Given the description of an element on the screen output the (x, y) to click on. 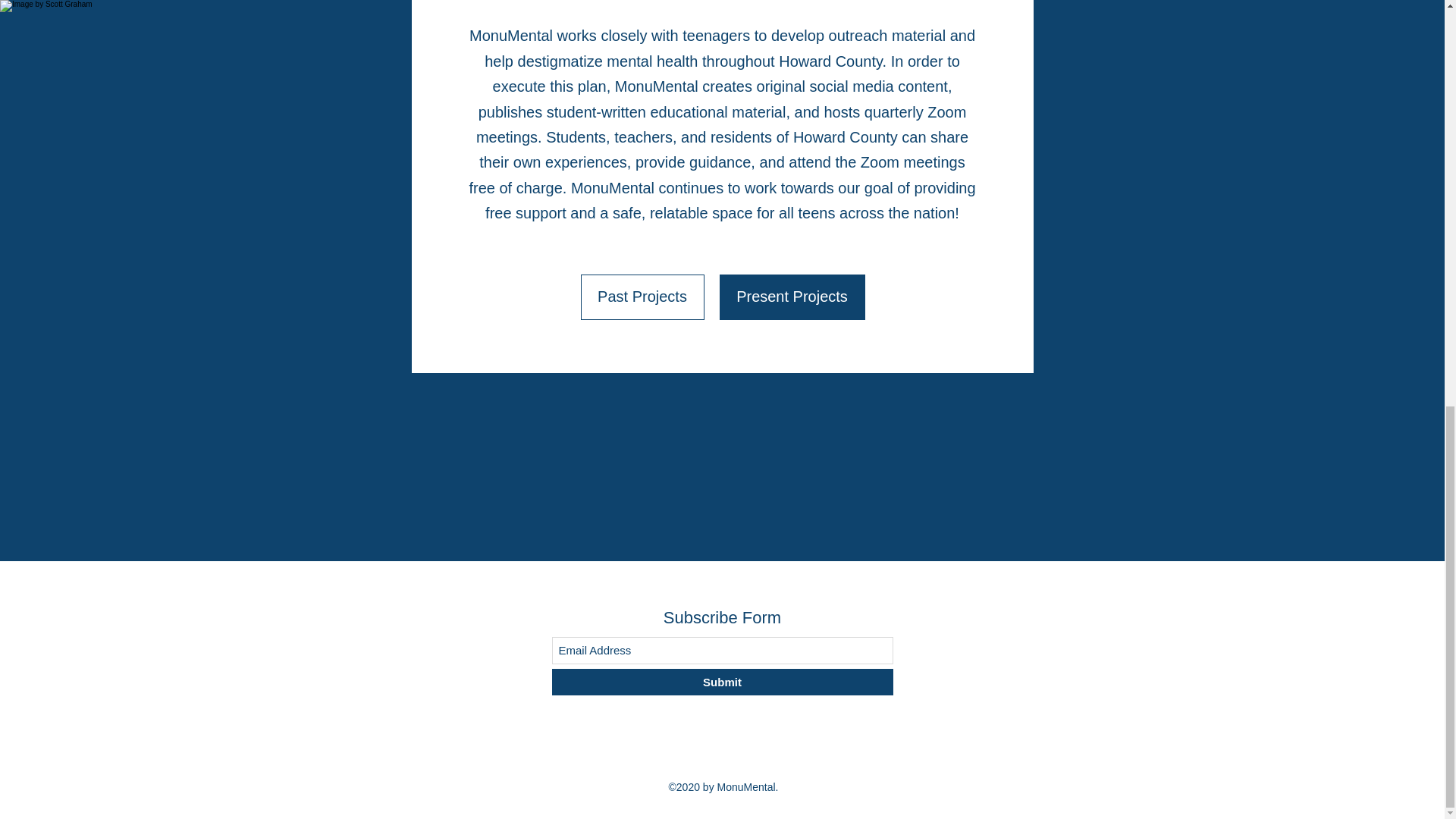
Past Projects (642, 297)
Submit (722, 682)
Present Projects (791, 297)
